Given the description of an element on the screen output the (x, y) to click on. 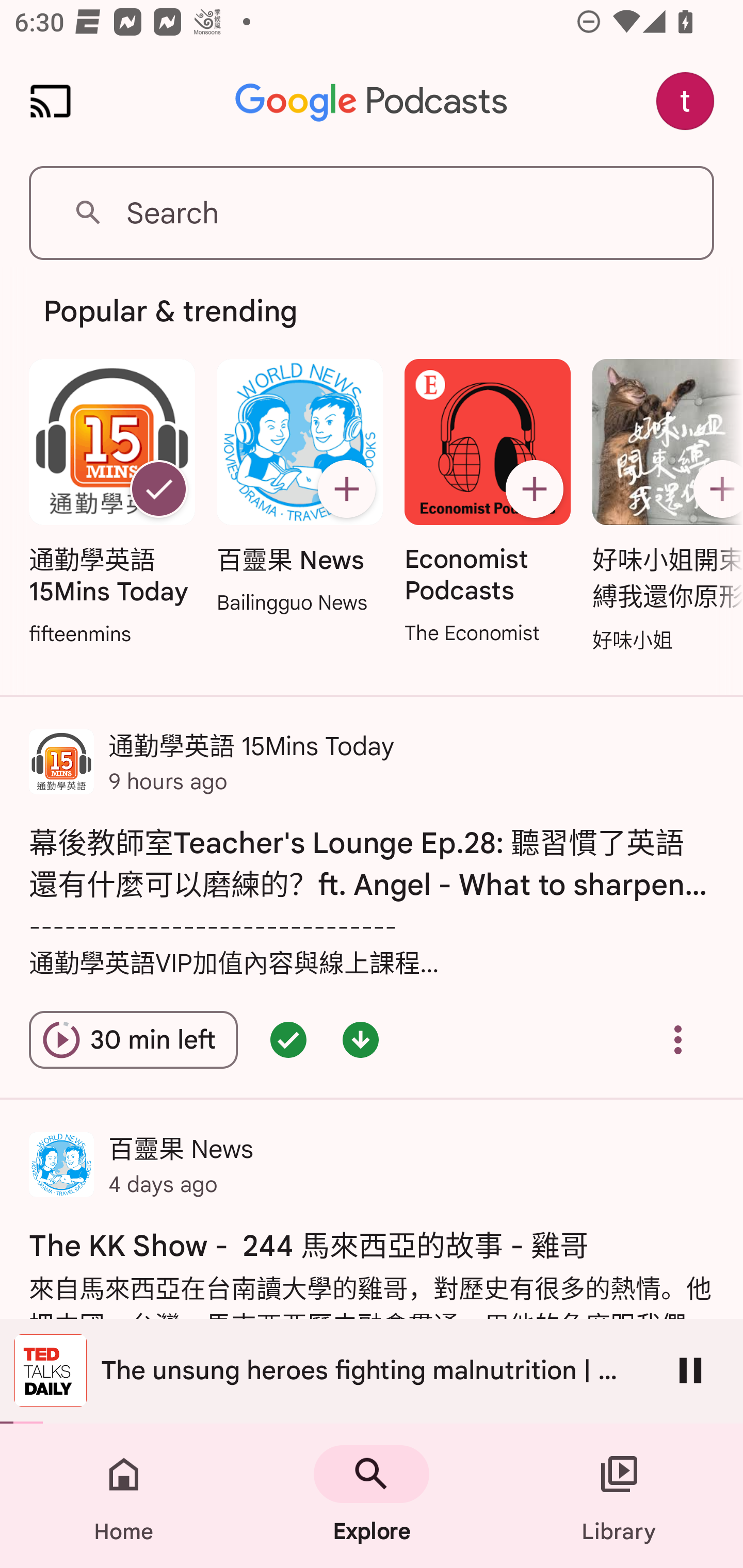
Cast. Disconnected (50, 101)
Search (371, 212)
百靈果 News Subscribe 百靈果 News Bailingguo News (299, 488)
好味小姐開束縛我還你原形 Subscribe 好味小姐開束縛我還你原形 好味小姐 (662, 507)
Unsubscribe (158, 489)
Subscribe (346, 489)
Subscribe (534, 489)
Subscribe (714, 489)
Episode queued - double tap for options (288, 1040)
Episode downloaded - double tap for options (360, 1040)
Overflow menu (677, 1040)
Pause (690, 1370)
Home (123, 1495)
Library (619, 1495)
